Given the description of an element on the screen output the (x, y) to click on. 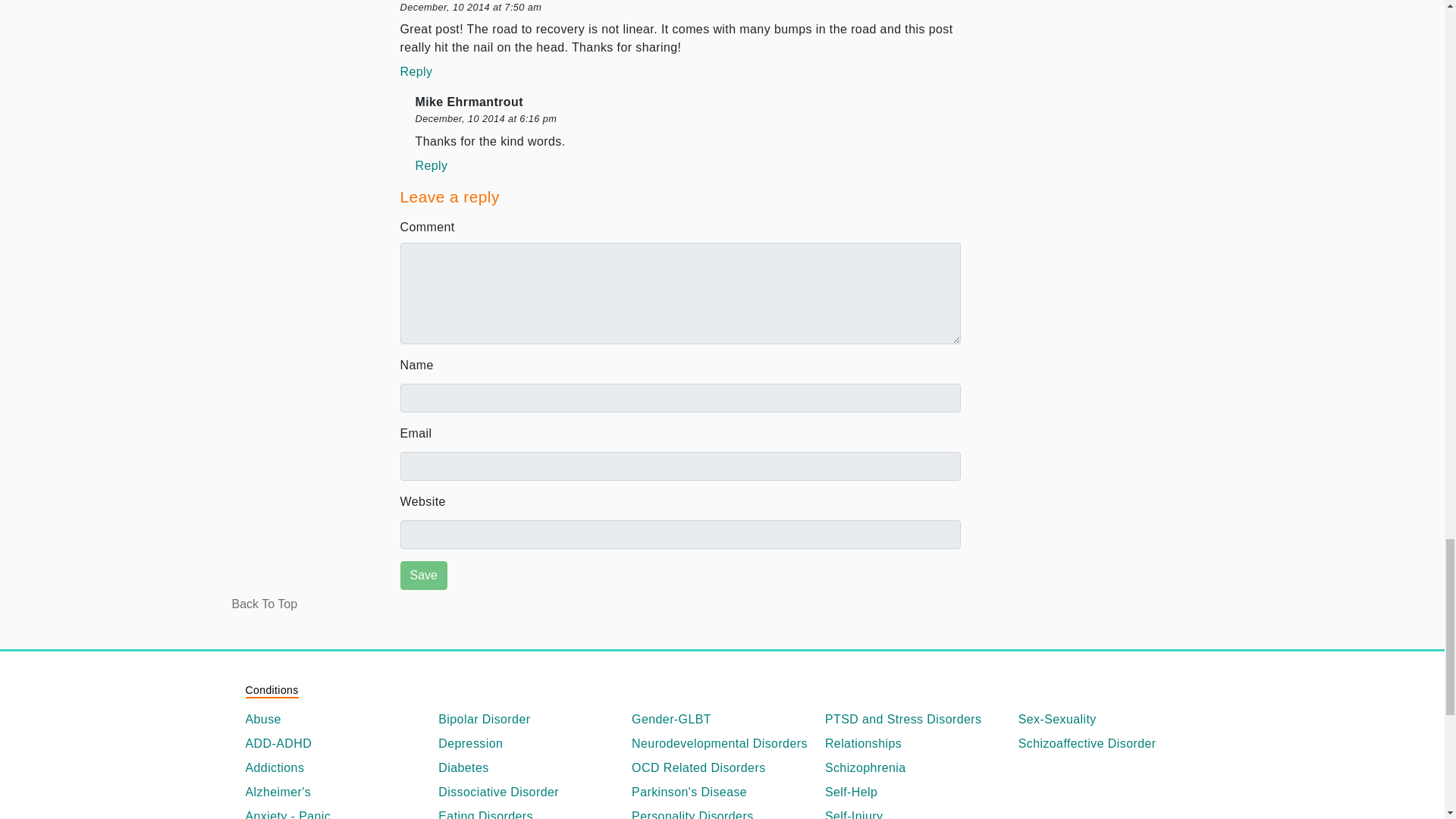
Parkinson's Disease Information Articles (721, 791)
